Given the description of an element on the screen output the (x, y) to click on. 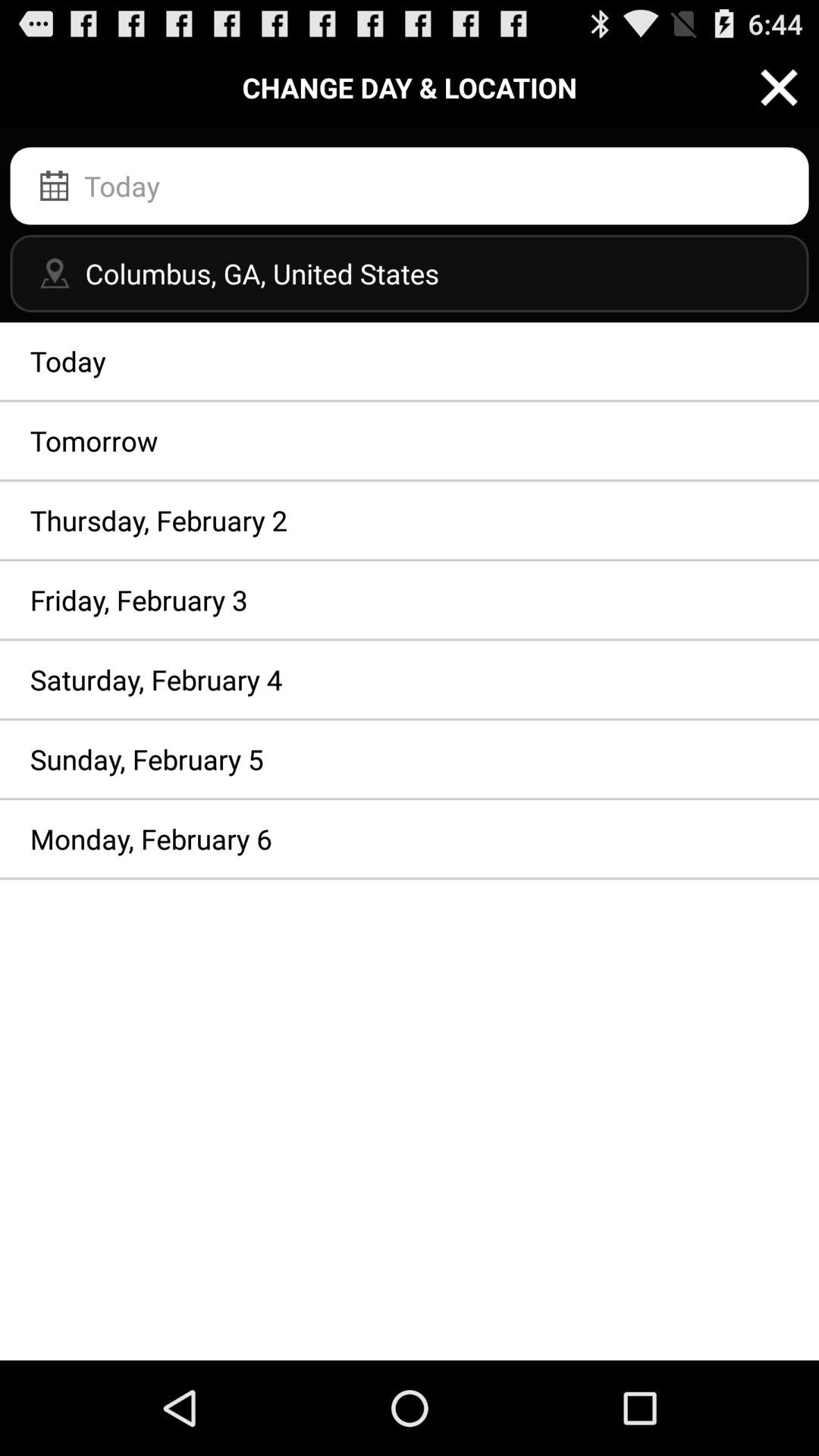
click app below the today item (409, 440)
